Given the description of an element on the screen output the (x, y) to click on. 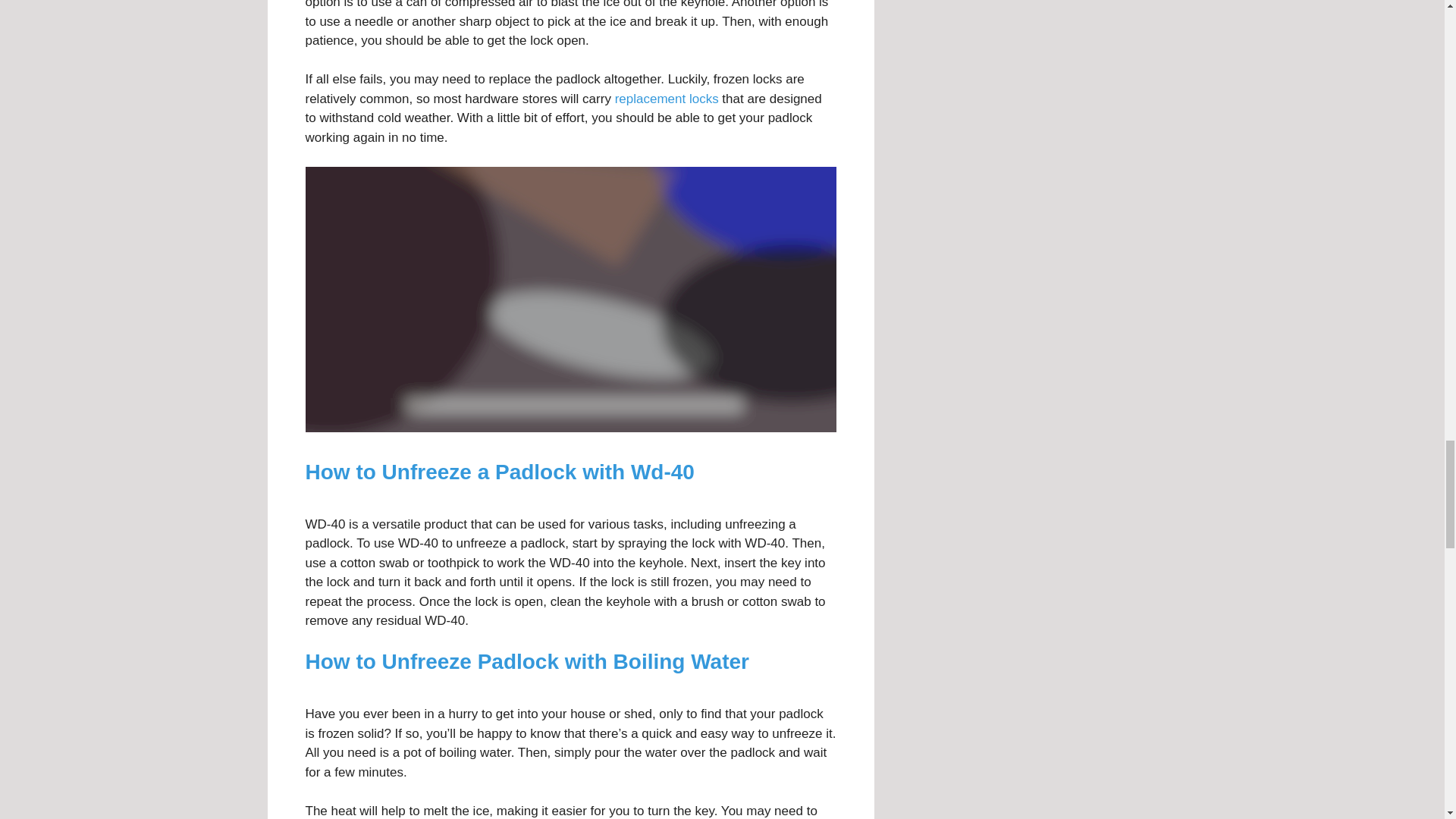
replacement locks (666, 98)
